Given the description of an element on the screen output the (x, y) to click on. 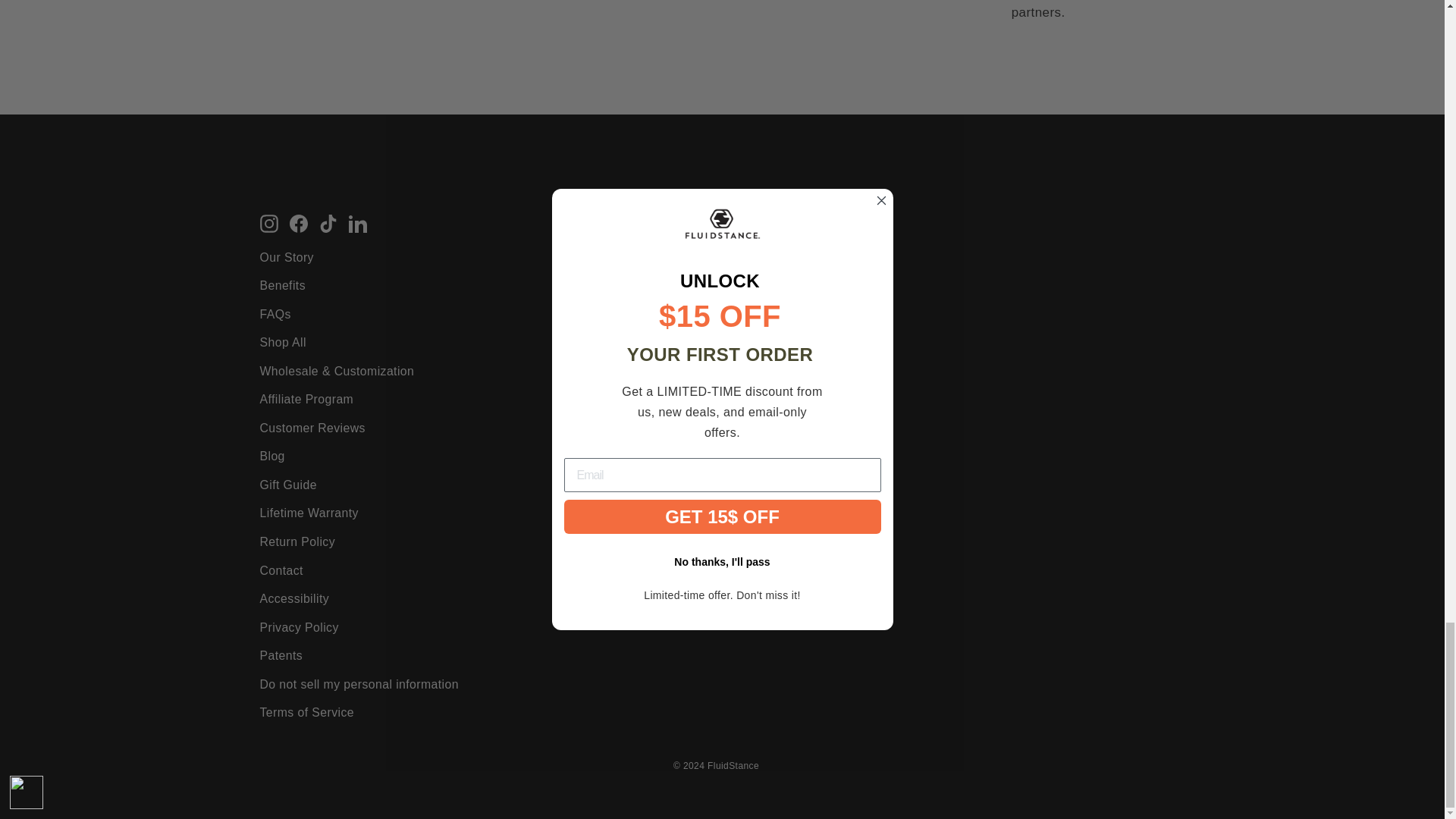
FluidStance on TikTok (327, 222)
FluidStance on Instagram (268, 222)
FluidStance on LinkedIn (357, 222)
instagram (268, 223)
FluidStance on Facebook (298, 222)
